Given the description of an element on the screen output the (x, y) to click on. 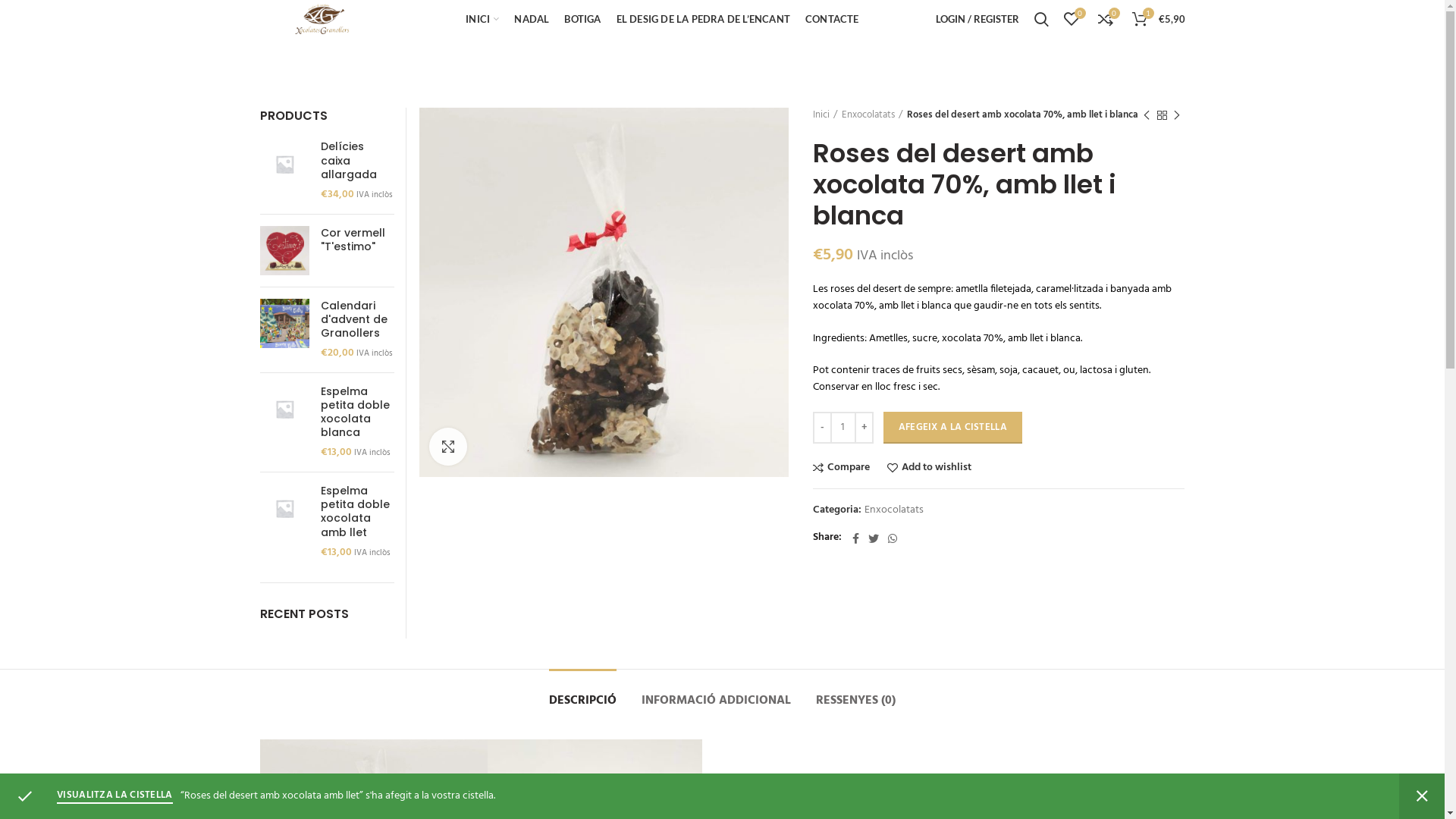
Cor vermell "T'estimo" Element type: text (356, 239)
INICI Element type: text (482, 18)
Espelma petita doble xocolata blanca Element type: hover (283, 422)
Next product Element type: text (1176, 114)
WhatsApp Element type: text (892, 538)
Enxocolatats Element type: text (871, 115)
0 Element type: text (1070, 18)
BOTIGA Element type: text (582, 18)
RESSENYES (0) Element type: text (855, 692)
Facebook Element type: text (855, 538)
0 Element type: text (1105, 18)
Espelma petita doble xocolata amb llet Element type: hover (283, 521)
VISUALITZA LA CISTELLA Element type: text (114, 795)
Cor vermell "T'estimo" Element type: hover (283, 250)
Espelma petita doble xocolata amb llet Element type: text (356, 511)
Compare Element type: text (840, 467)
LOGIN / REGISTER Element type: text (977, 18)
CONTACTE Element type: text (831, 18)
Previous product Element type: text (1146, 114)
Add to wishlist Element type: text (929, 467)
AFEGEIX A LA CISTELLA Element type: text (952, 427)
Search Element type: hover (1041, 18)
Inici Element type: text (824, 115)
Calendari d'advent de Granollers Element type: hover (283, 329)
Quant. Element type: hover (842, 427)
Calendari d'advent de Granollers Element type: text (356, 319)
Espelma petita doble xocolata blanca Element type: text (356, 411)
NADAL Element type: text (531, 18)
Twitter Element type: text (873, 538)
Enxocolatats Element type: text (893, 510)
